Given the description of an element on the screen output the (x, y) to click on. 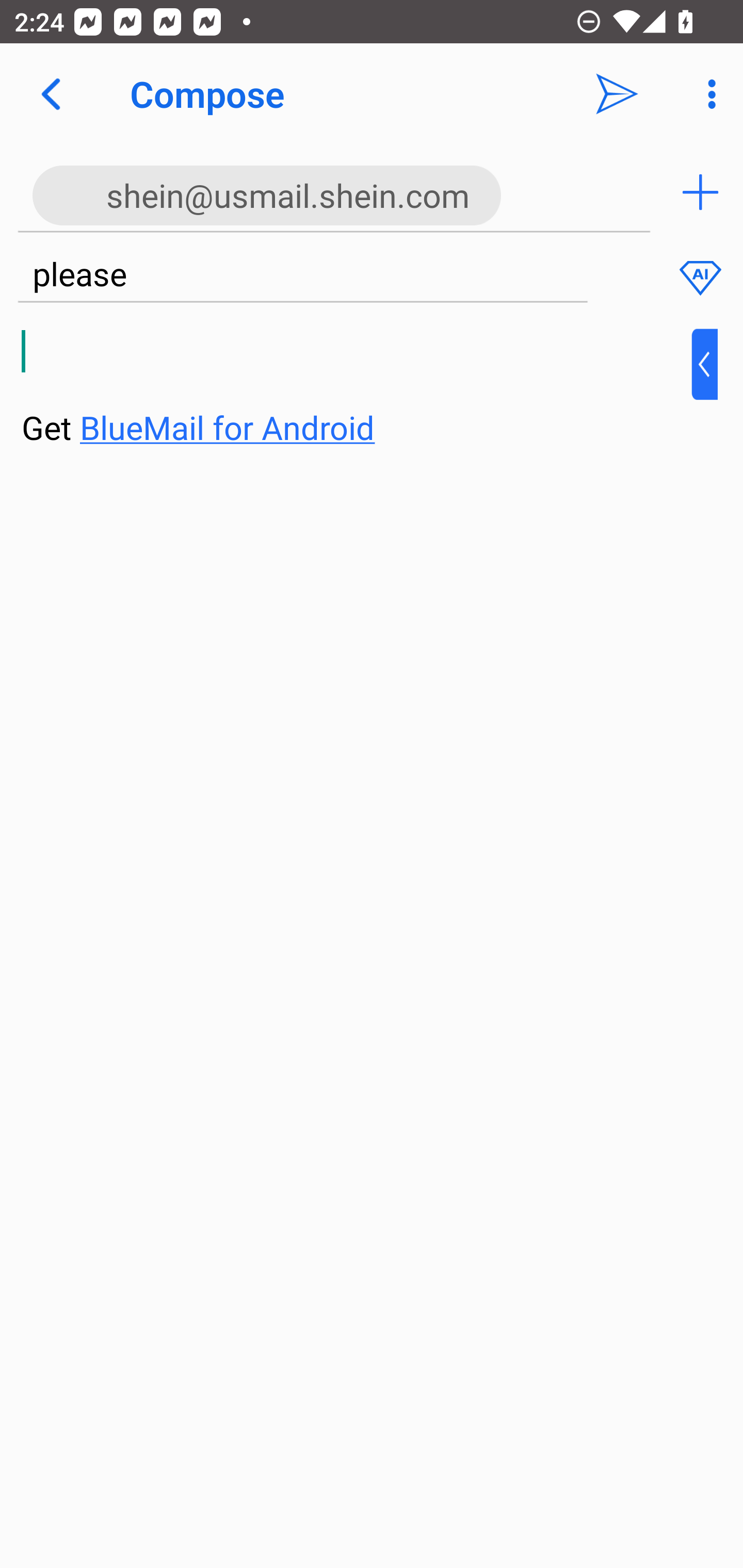
Navigate up (50, 93)
Send (616, 93)
More Options (706, 93)
<shein@usmail.shein.com>,  (334, 191)
Add recipient (To) (699, 191)
please (302, 274)


⁣Get BlueMail for Android ​ (355, 390)
